Given the description of an element on the screen output the (x, y) to click on. 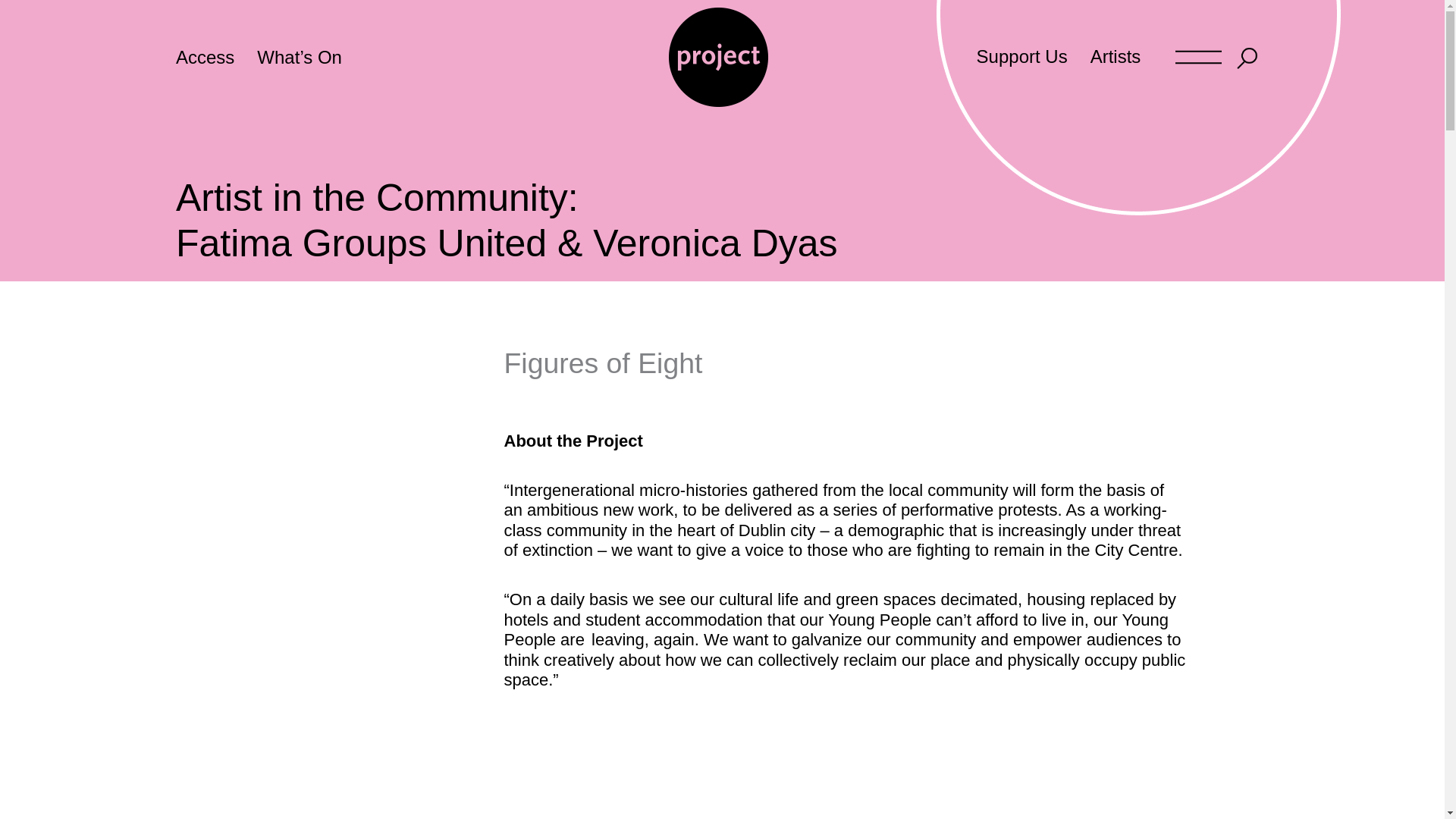
Artists (1115, 56)
Support Us (1021, 56)
Access (216, 56)
